Given the description of an element on the screen output the (x, y) to click on. 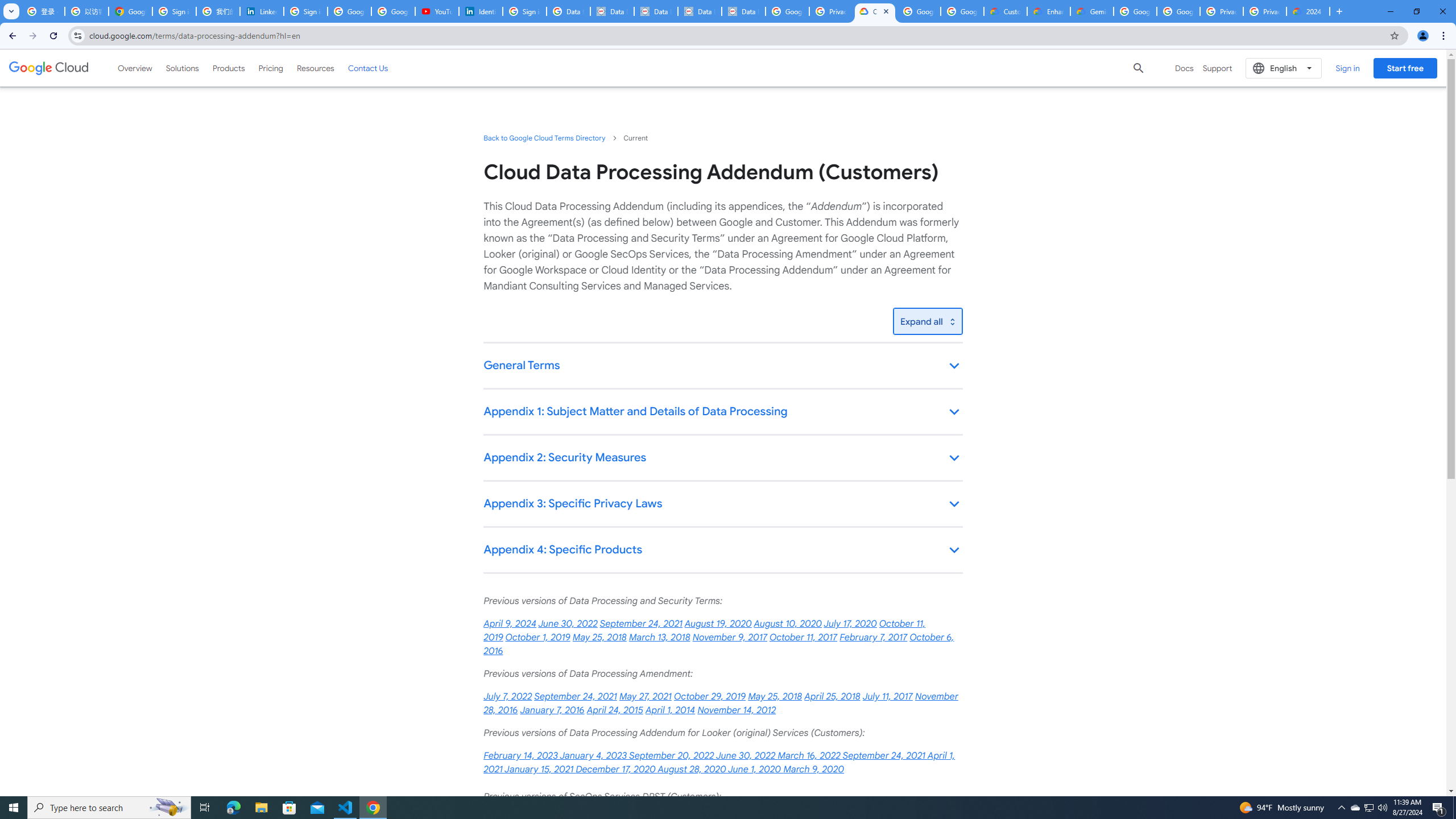
July 11, 2017 (886, 696)
Data Privacy Framework (743, 11)
November 9, 2017 (729, 637)
October 11, 2017 (802, 637)
October 6, 2016 (718, 644)
